Given the description of an element on the screen output the (x, y) to click on. 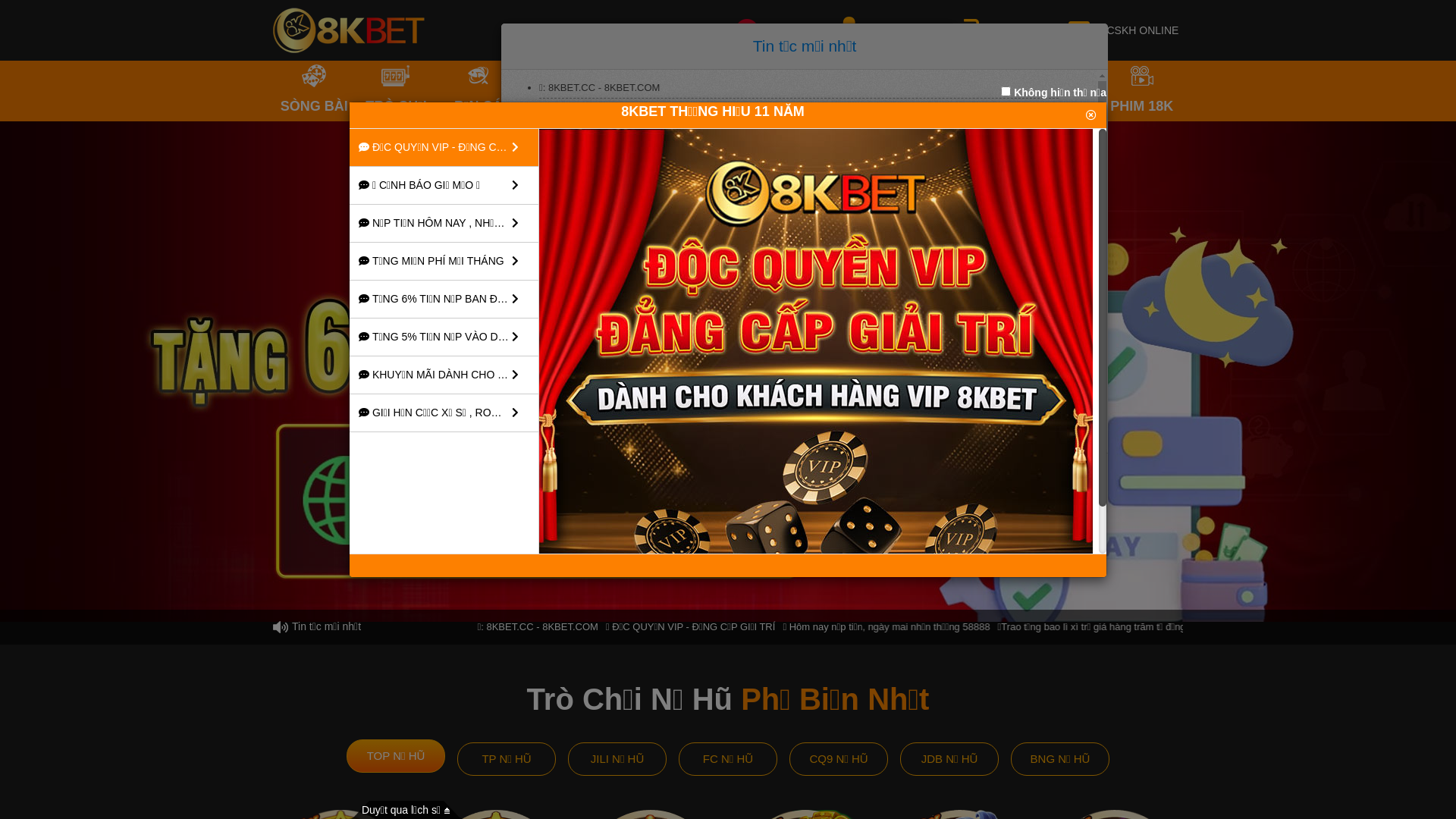
PHIM 18K Element type: text (1141, 90)
